Given the description of an element on the screen output the (x, y) to click on. 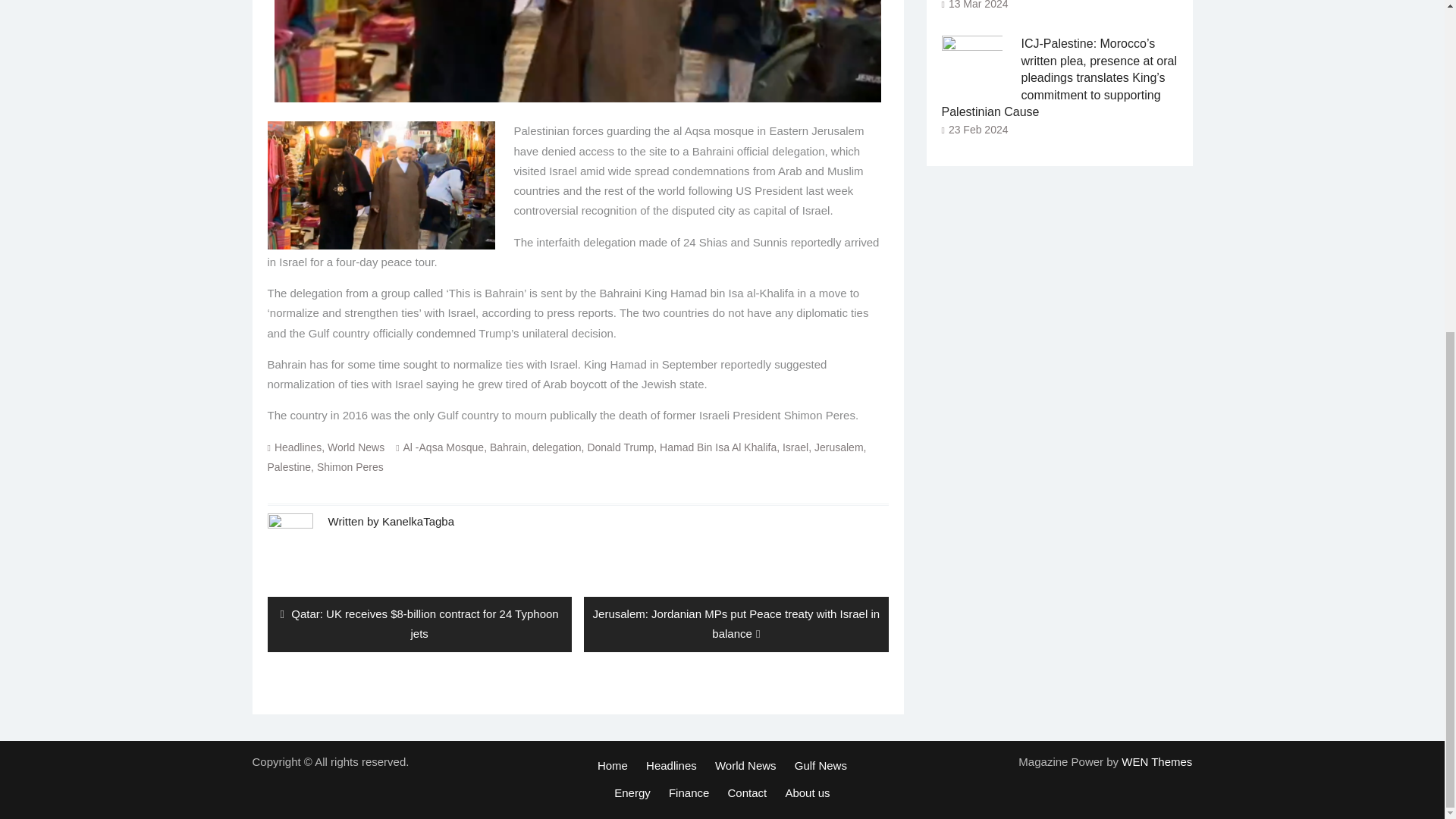
Posts by KanelkaTagba (417, 521)
World News (355, 447)
Palestine (288, 467)
Hamad Bin Isa Al Khalifa (717, 447)
Jerusalem (838, 447)
Israel (795, 447)
delegation (556, 447)
Bahrain (507, 447)
Headlines (298, 447)
Al -Aqsa Mosque (443, 447)
